Given the description of an element on the screen output the (x, y) to click on. 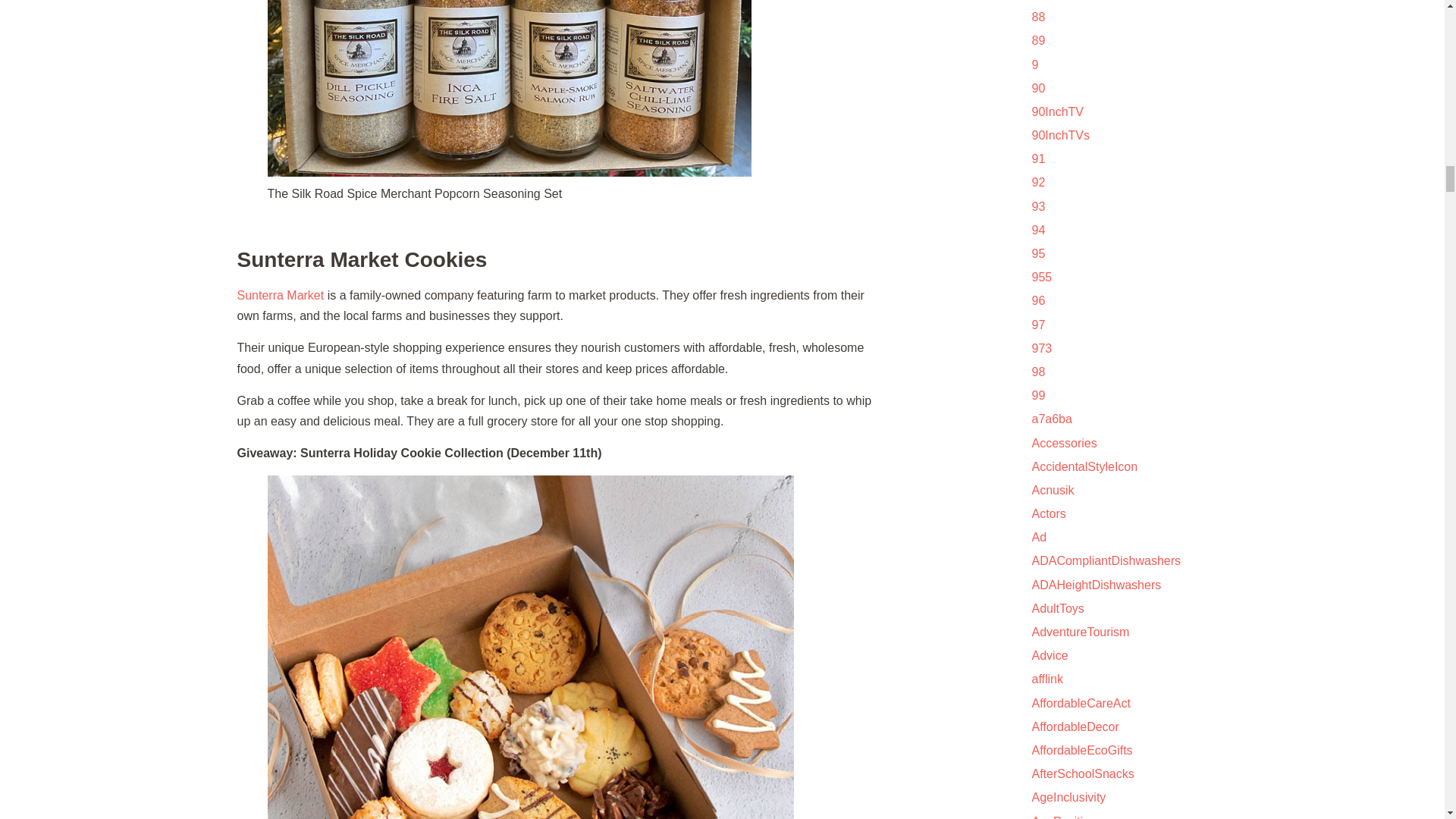
Sunterra Market (279, 295)
